Given the description of an element on the screen output the (x, y) to click on. 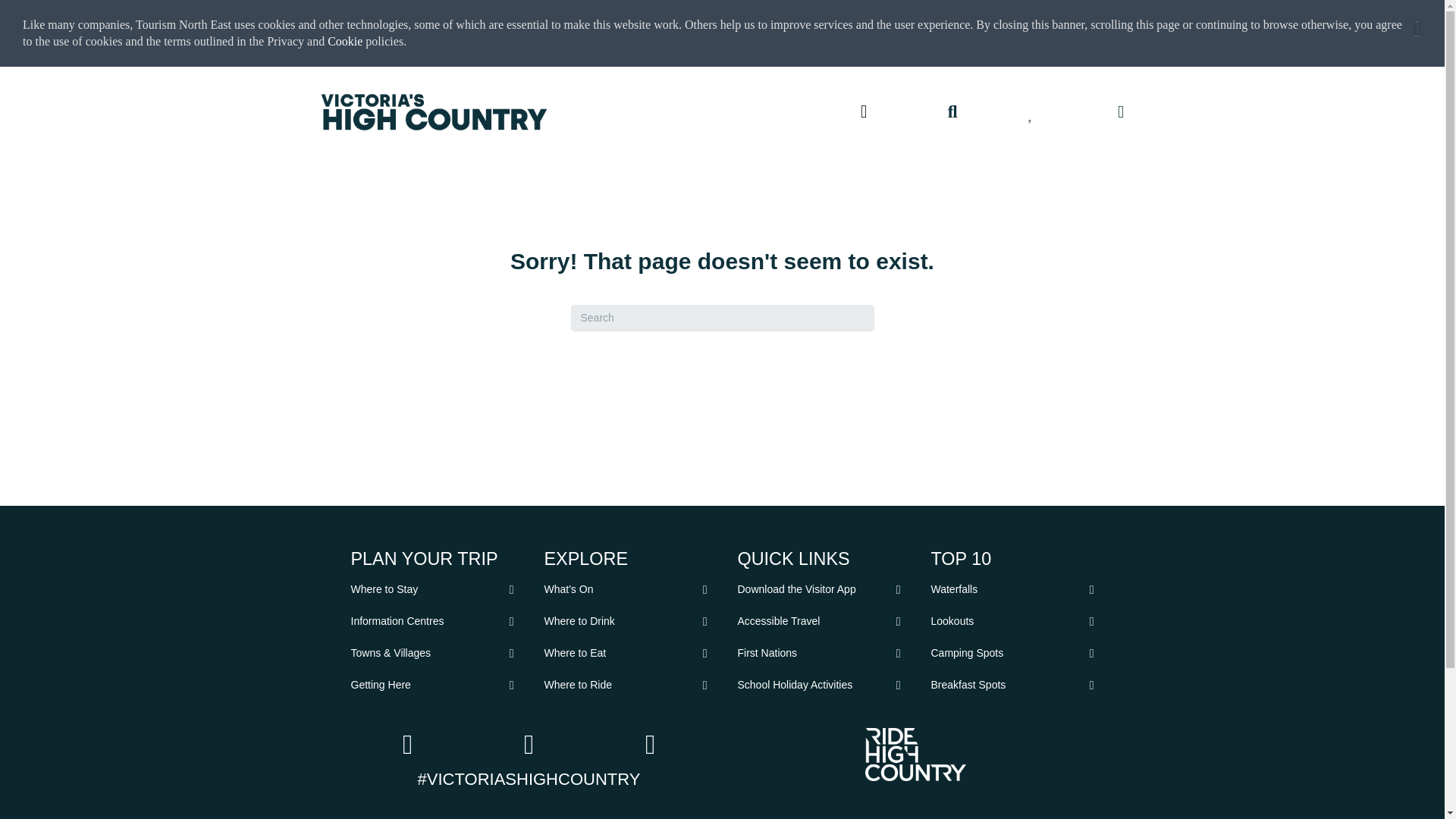
footer-rhc-white-logo (915, 754)
Type and press Enter to search. (721, 317)
Cookie (344, 41)
Like and share your Wishlist (1031, 110)
Privacy (286, 41)
VHC-Logo-Horizontal-DarkGreen-v2 (433, 112)
